Given the description of an element on the screen output the (x, y) to click on. 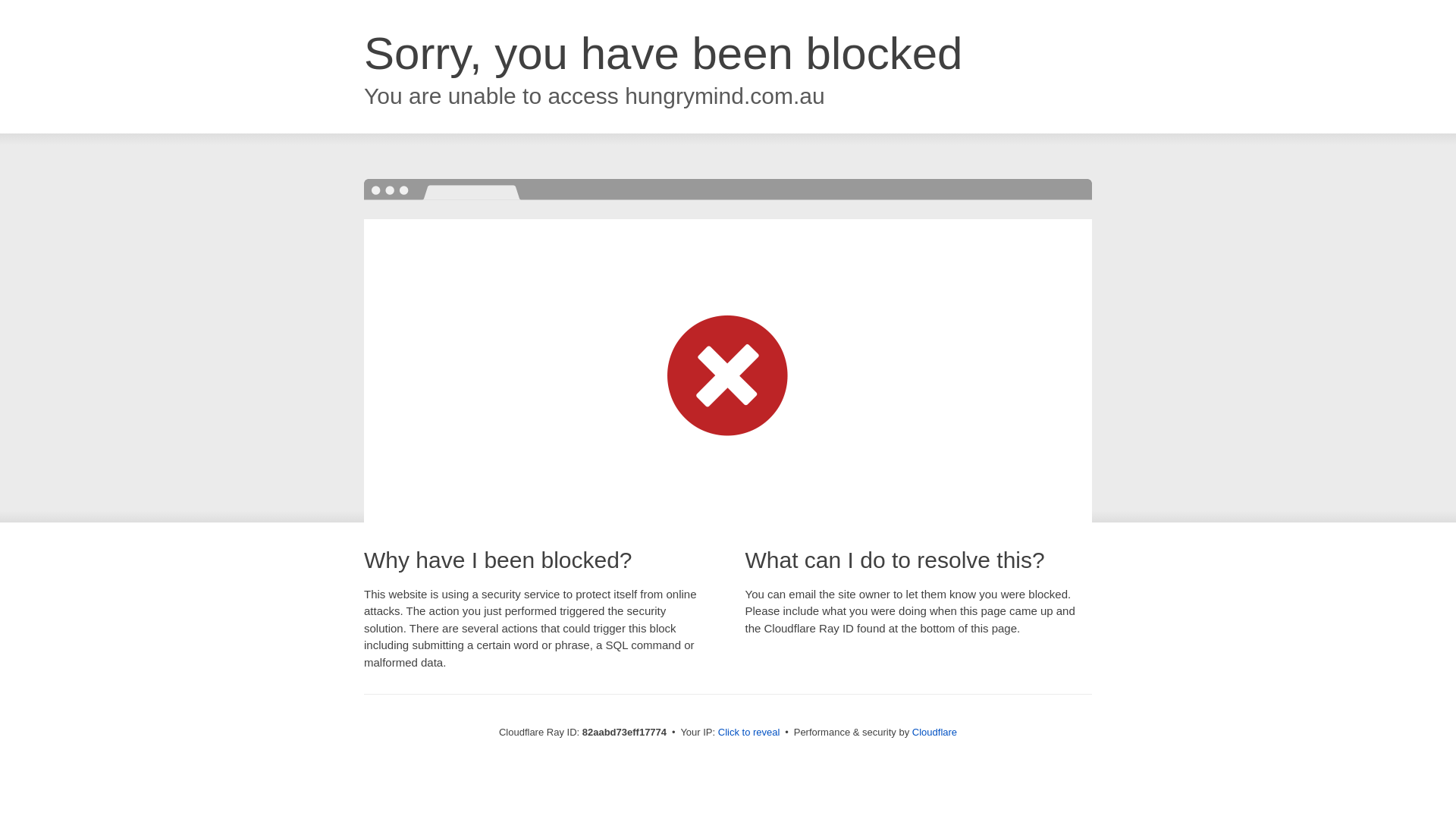
Cloudflare Element type: text (934, 731)
Click to reveal Element type: text (749, 732)
